Given the description of an element on the screen output the (x, y) to click on. 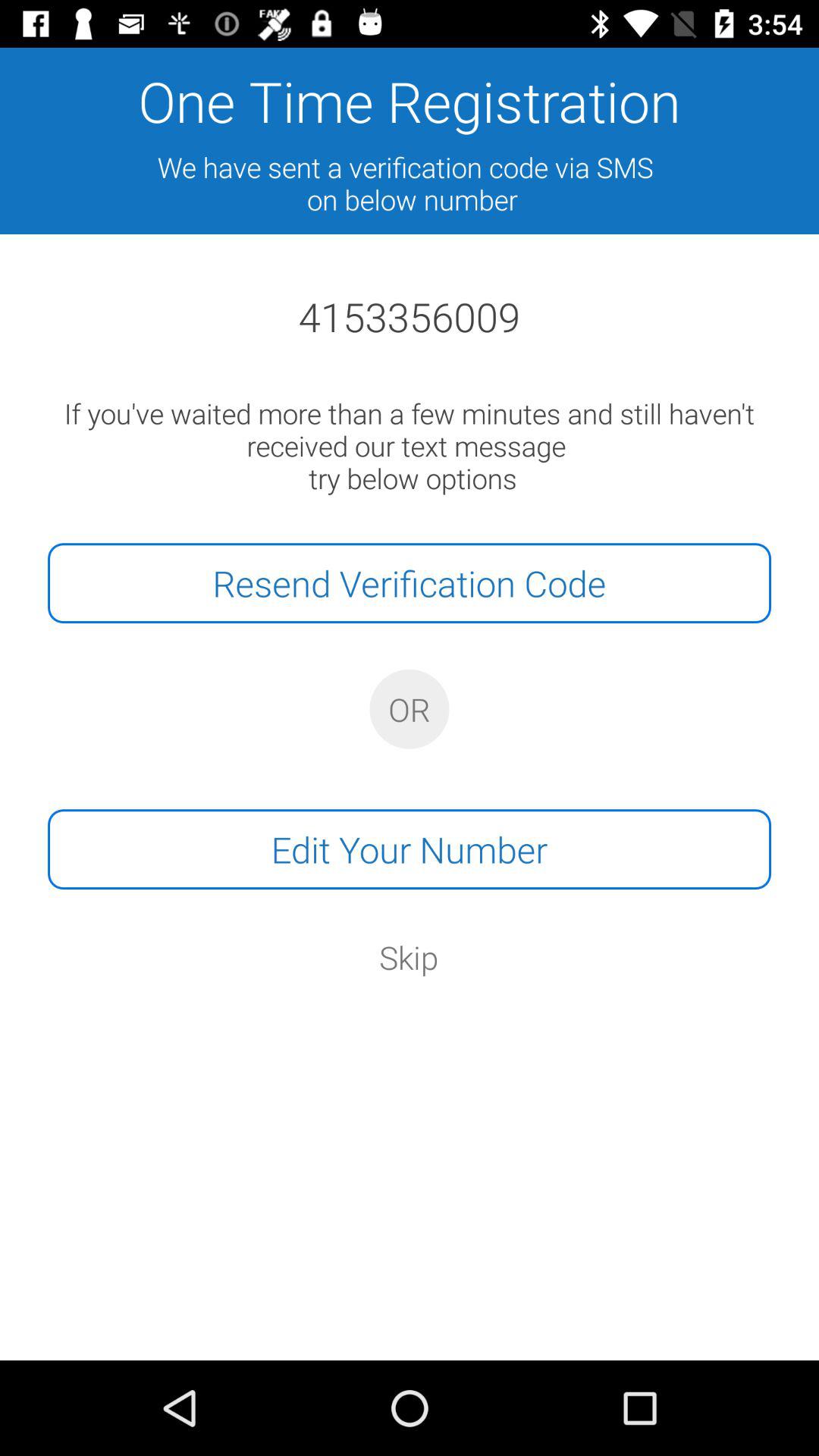
turn on the skip item (408, 956)
